Given the description of an element on the screen output the (x, y) to click on. 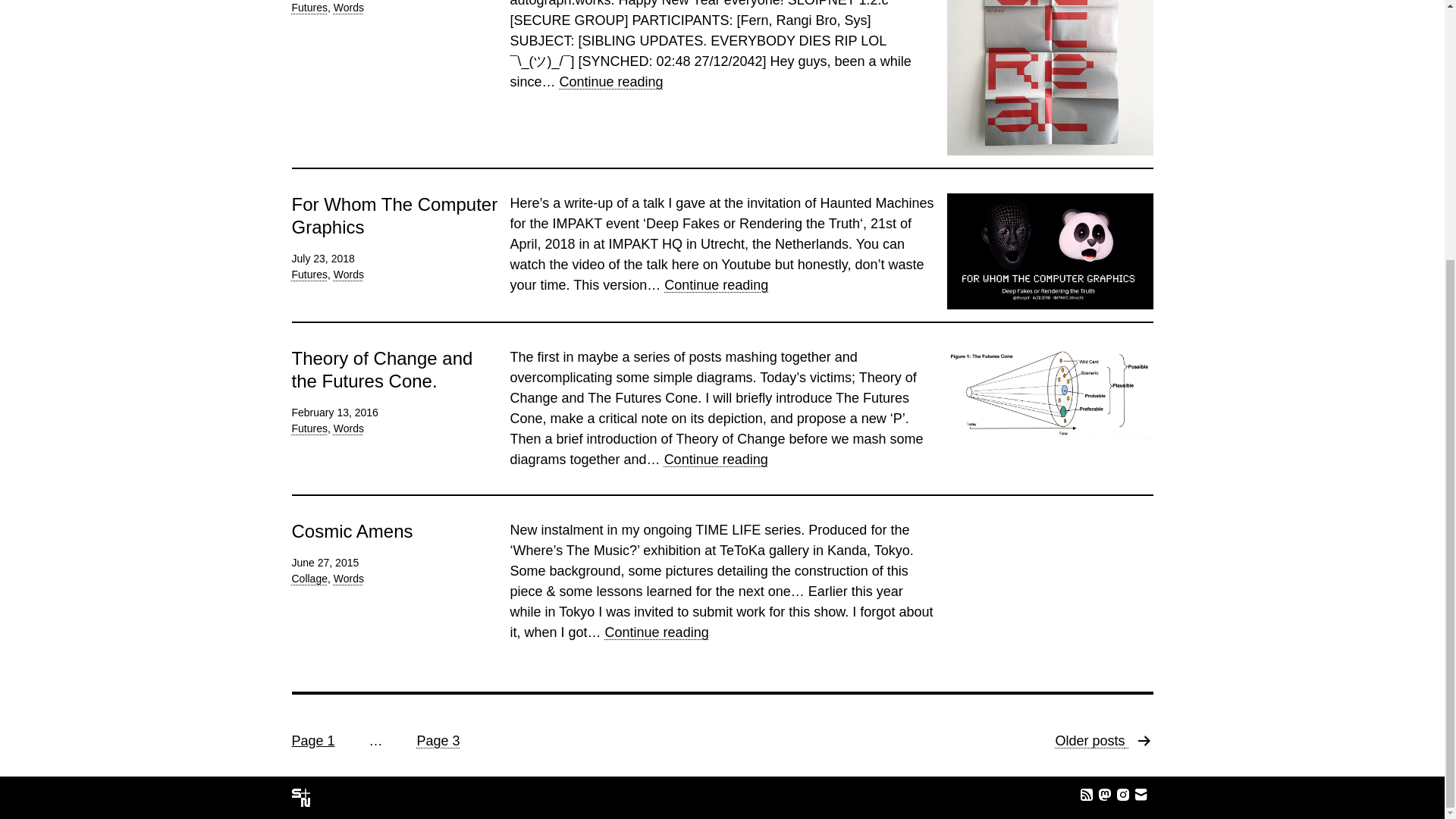
Words (348, 578)
Collage (308, 578)
Words (348, 274)
For Whom The Computer Graphics (394, 215)
Futures (308, 7)
Older posts (715, 459)
Words (1103, 747)
Cosmic Amens (348, 7)
email (351, 530)
